Given the description of an element on the screen output the (x, y) to click on. 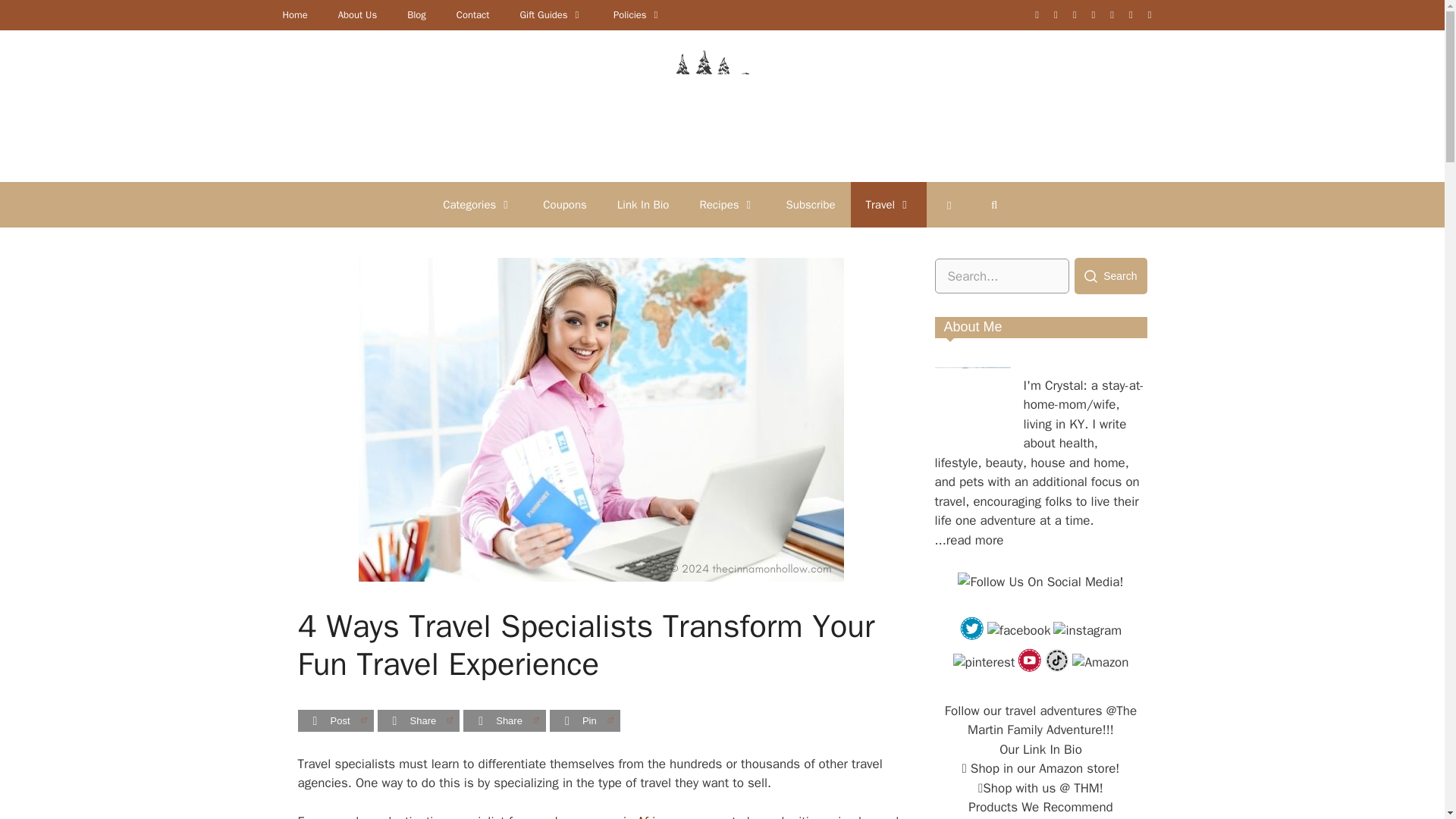
Subscribe To Our Newsletter (810, 204)
Policies (637, 15)
Home (293, 15)
Coupons (564, 204)
Link In Bio (643, 204)
Blog (416, 15)
Gift Guides (549, 15)
Contact (473, 15)
Categories (477, 204)
Recipes (727, 204)
